Given the description of an element on the screen output the (x, y) to click on. 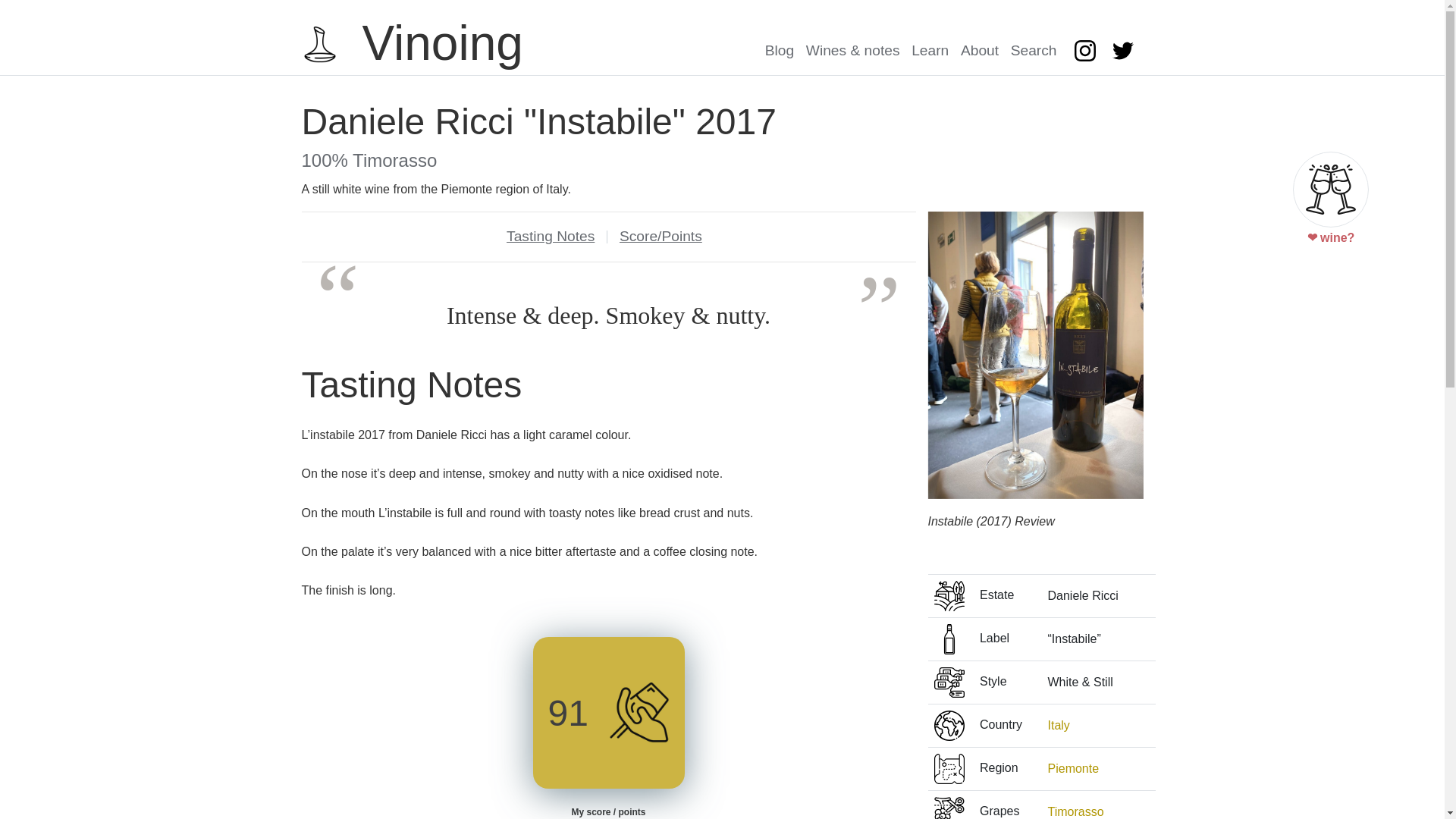
Timorasso (1075, 811)
Tasting Notes (550, 236)
Vinoing (411, 43)
Learn (930, 50)
Search (1033, 50)
Instagram icon (1085, 50)
Instagram icon (1087, 50)
Twitter icon (1123, 50)
Italy (1059, 725)
About (979, 50)
